Given the description of an element on the screen output the (x, y) to click on. 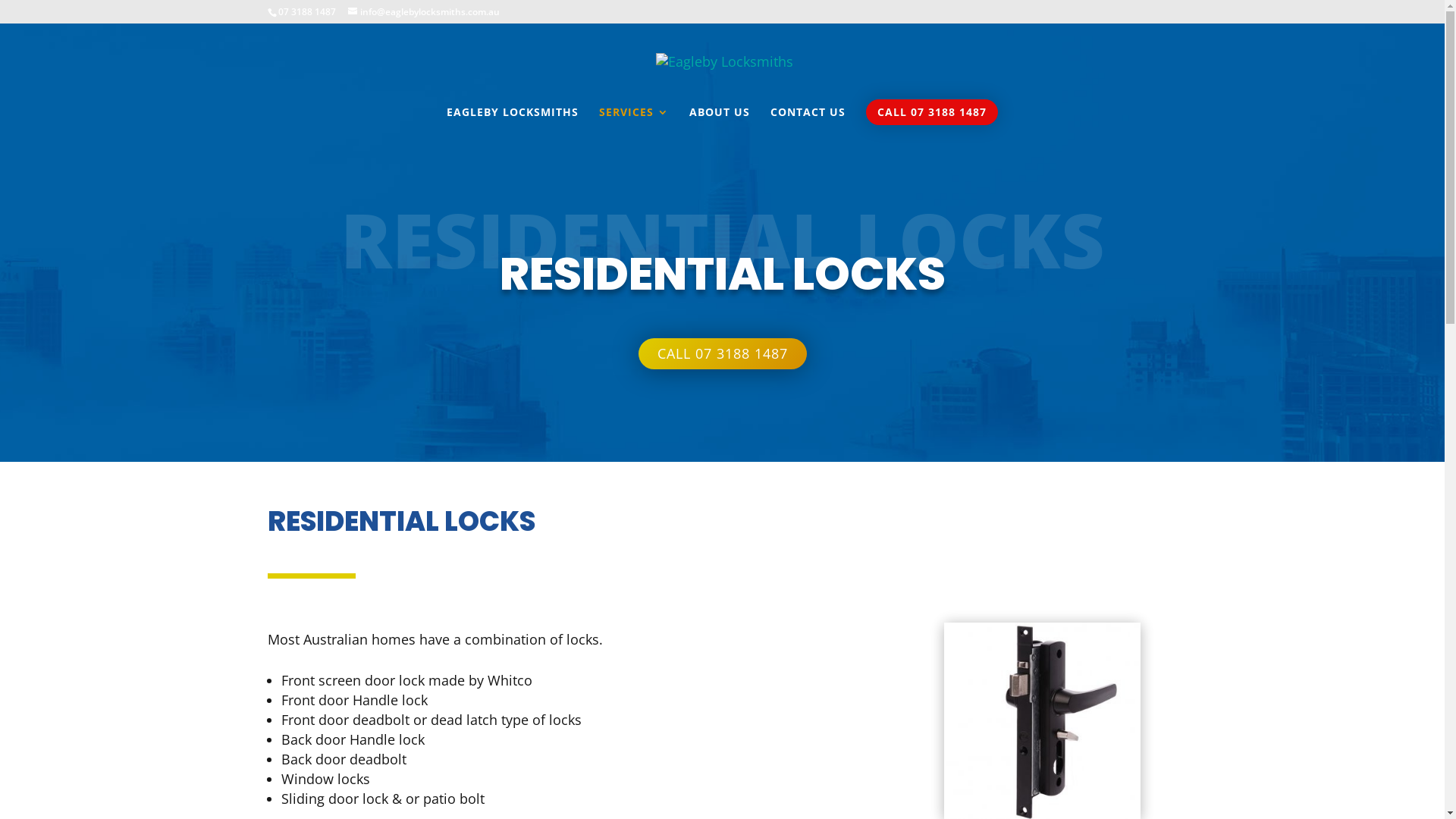
SERVICES Element type: text (633, 122)
CONTACT US Element type: text (807, 122)
CALL 07 3188 1487 Element type: text (722, 353)
CALL 07 3188 1487 Element type: text (931, 112)
ABOUT US Element type: text (719, 122)
info@eaglebylocksmiths.com.au Element type: text (422, 11)
EAGLEBY LOCKSMITHS Element type: text (512, 122)
